Given the description of an element on the screen output the (x, y) to click on. 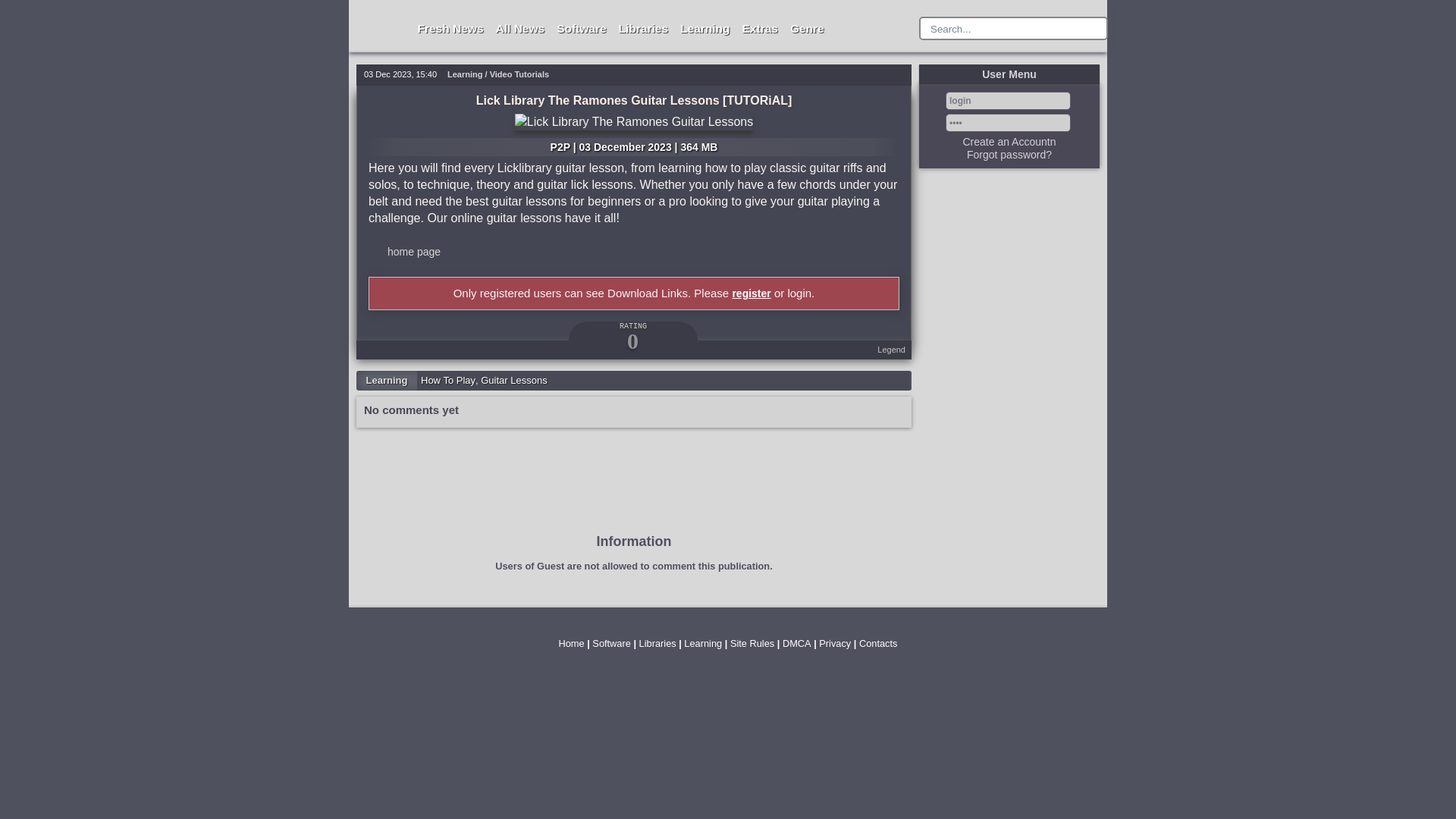
Video Tutorials (518, 73)
Search... (1005, 29)
Product Page (414, 251)
Main (381, 9)
Fresh Releases (450, 28)
Extras (759, 28)
Extras (759, 28)
Learning (705, 28)
Libraries (642, 28)
All Releases (520, 28)
